Given the description of an element on the screen output the (x, y) to click on. 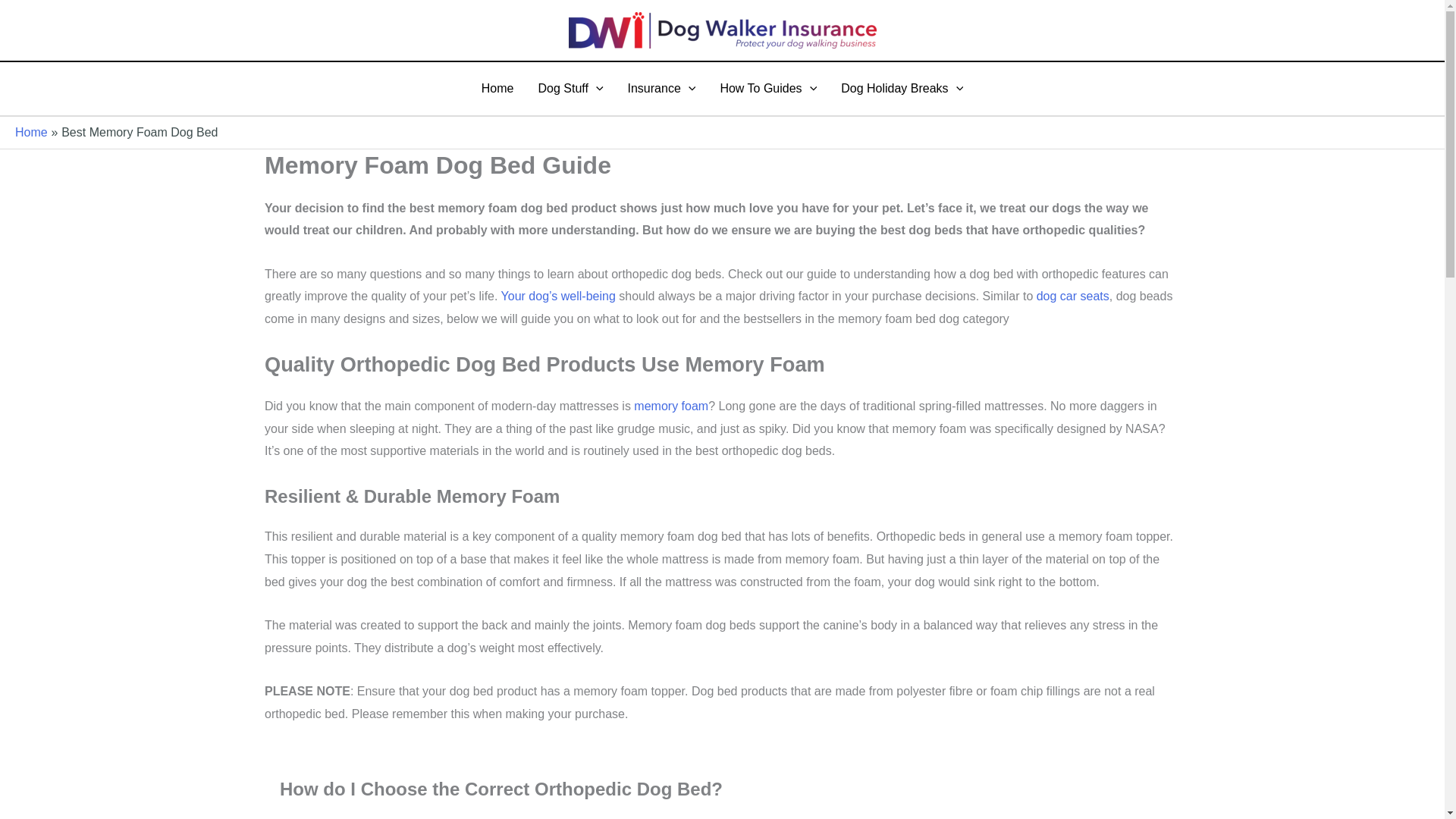
Dog Stuff (570, 88)
Home (496, 88)
